Given the description of an element on the screen output the (x, y) to click on. 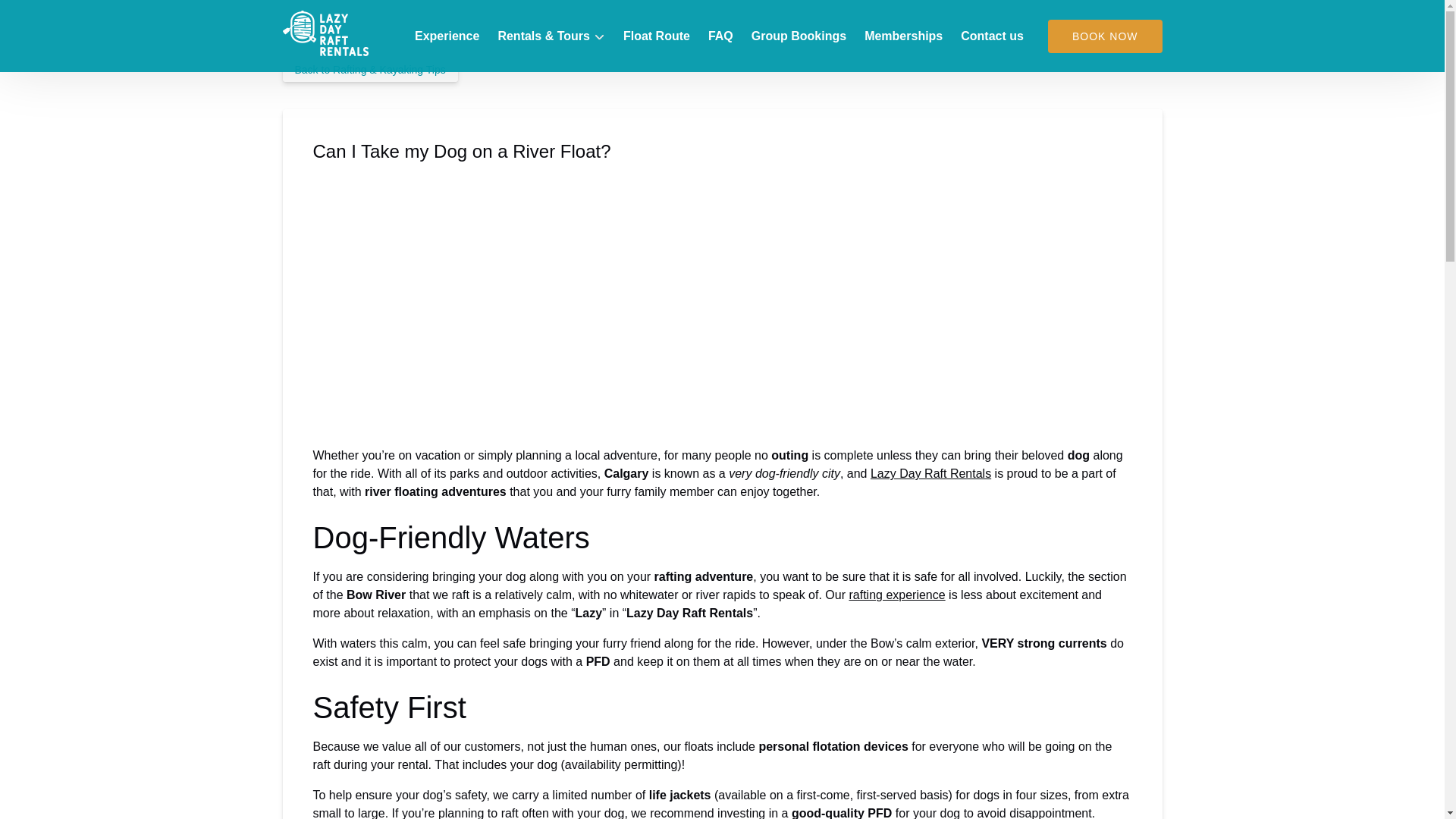
rafting experience (896, 594)
Float Route (656, 35)
Skip to content (47, 16)
BOOK NOW (1104, 36)
Contact us (992, 35)
Experience (446, 35)
Group Bookings (799, 35)
FAQ (720, 35)
Skip to footer (42, 16)
Skip to primary navigation (77, 16)
